Given the description of an element on the screen output the (x, y) to click on. 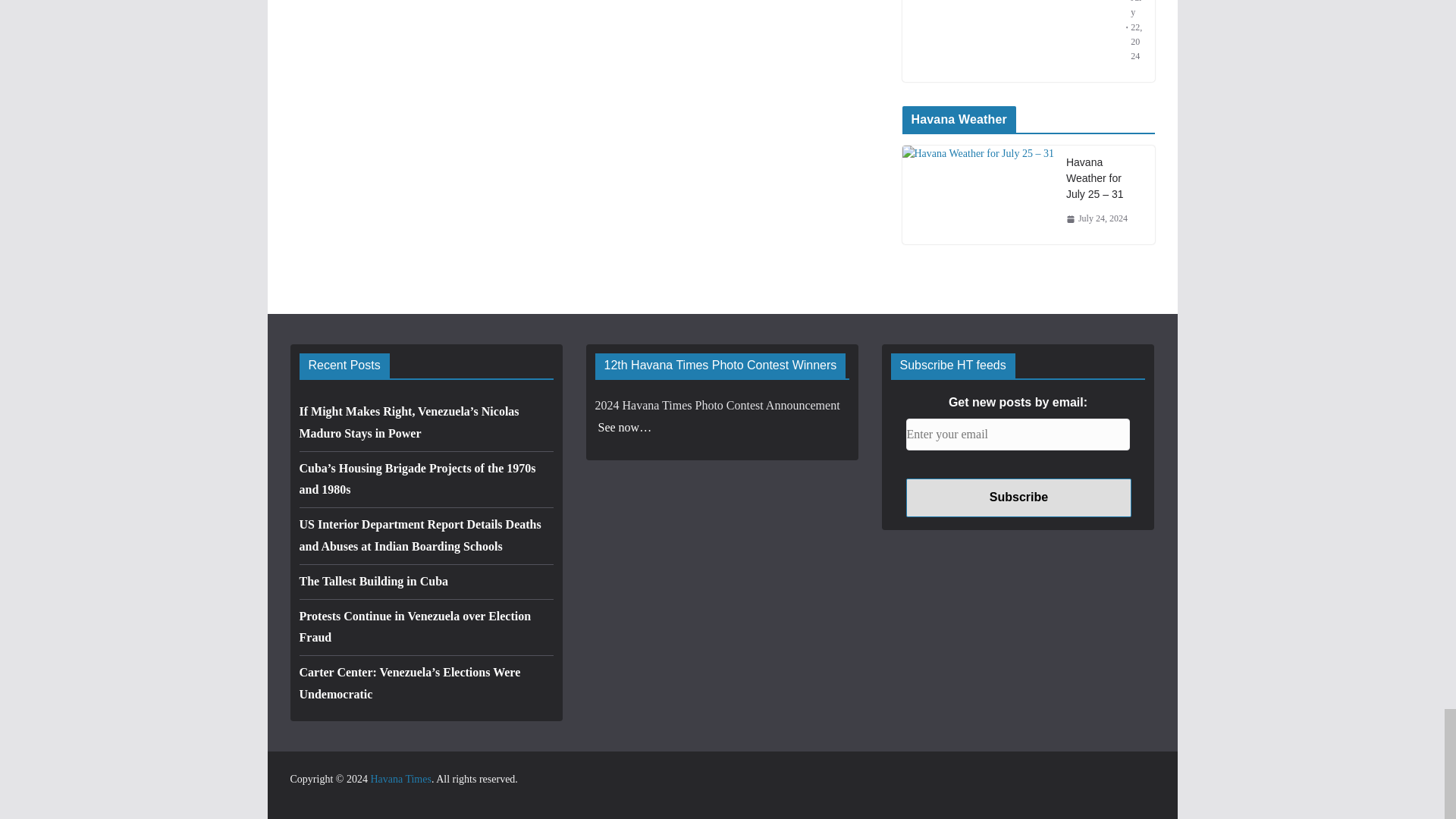
Subscribe (1018, 497)
